Given the description of an element on the screen output the (x, y) to click on. 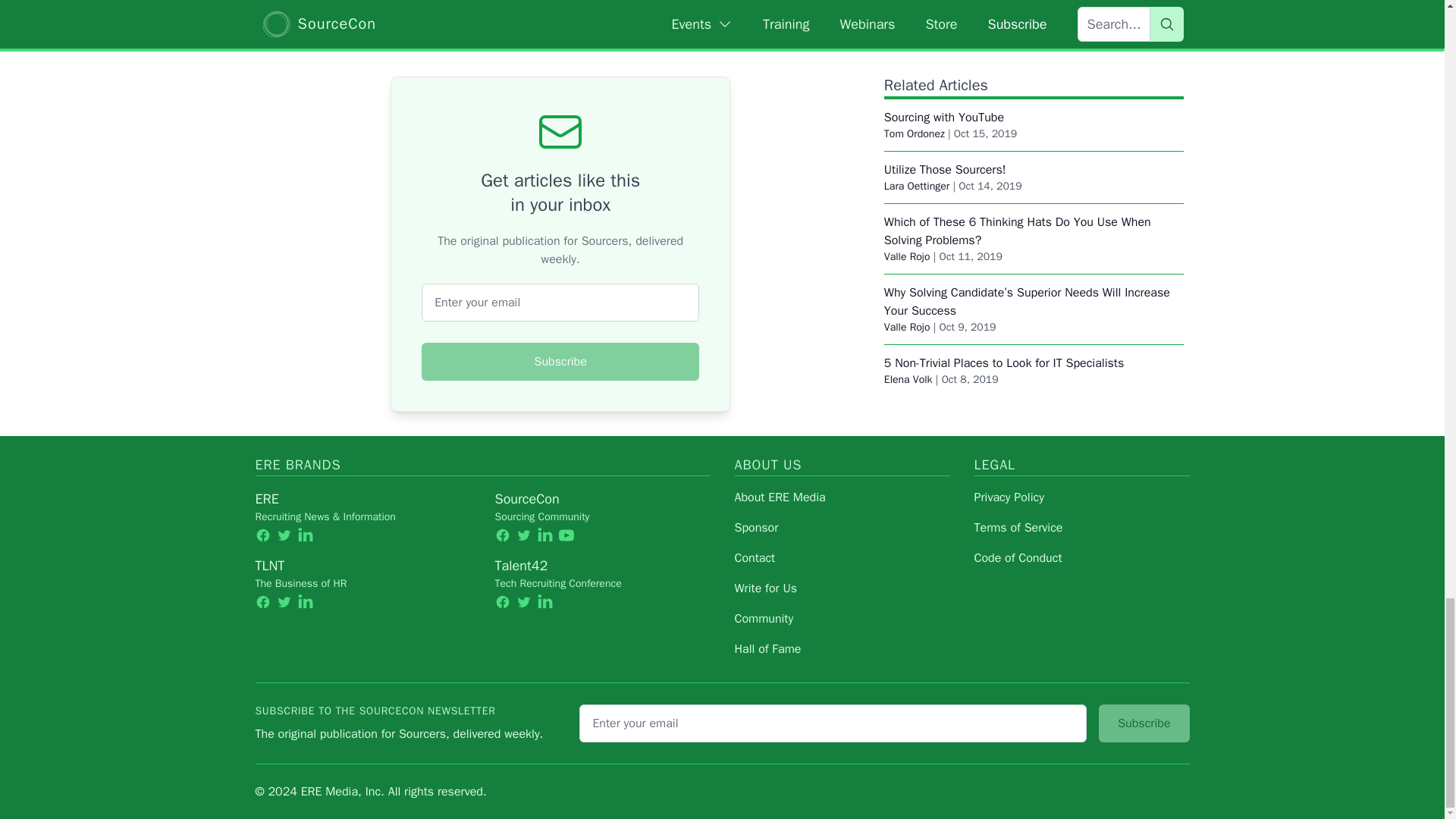
Subscribe (560, 361)
